Given the description of an element on the screen output the (x, y) to click on. 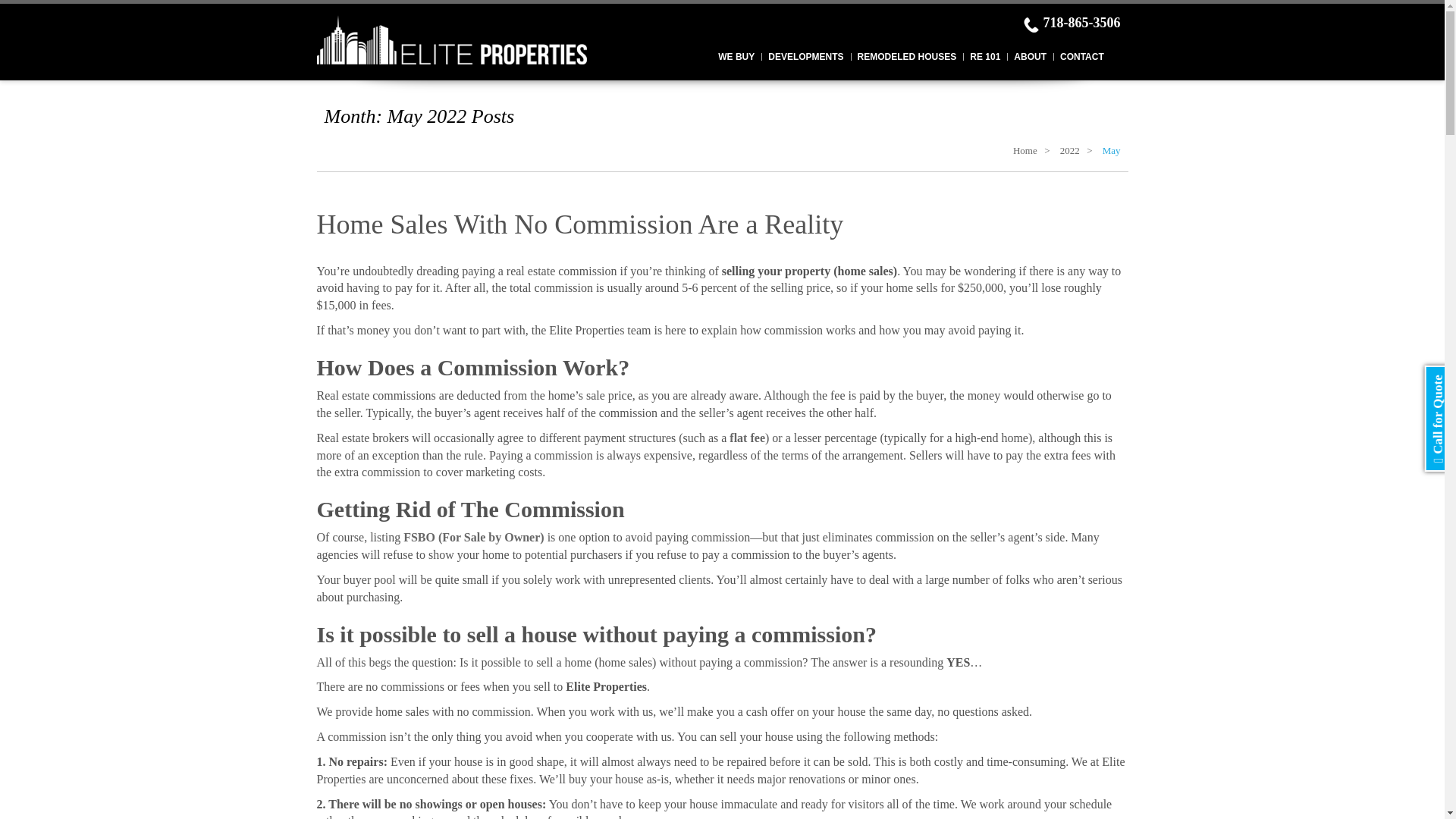
RE 101 (984, 56)
REMODELED HOUSES (906, 56)
2022 (1069, 150)
ABOUT (1029, 56)
CONTACT (1081, 56)
DEVELOPMENTS (805, 56)
flat fee (747, 437)
Home (1024, 150)
718-865-3506 (1071, 24)
WE BUY (736, 56)
